Given the description of an element on the screen output the (x, y) to click on. 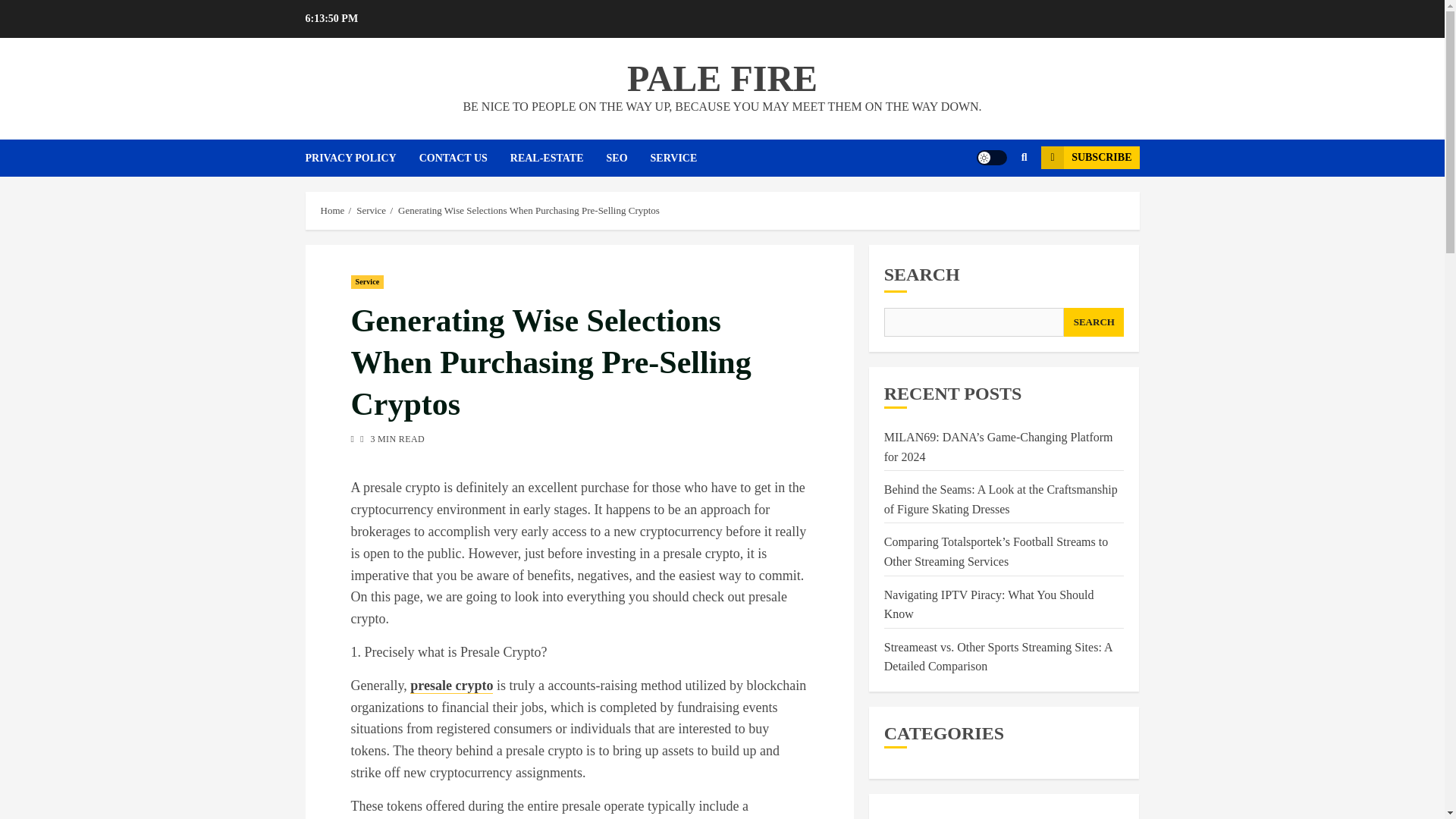
Service (370, 210)
REAL-ESTATE (559, 157)
SEARCH (1094, 321)
presale crypto (451, 685)
SERVICE (685, 157)
PRIVACY POLICY (361, 157)
Search (994, 203)
CONTACT US (465, 157)
SEO (628, 157)
SUBSCRIBE (1089, 157)
Home (331, 210)
Service (367, 282)
PALE FIRE (721, 78)
